Given the description of an element on the screen output the (x, y) to click on. 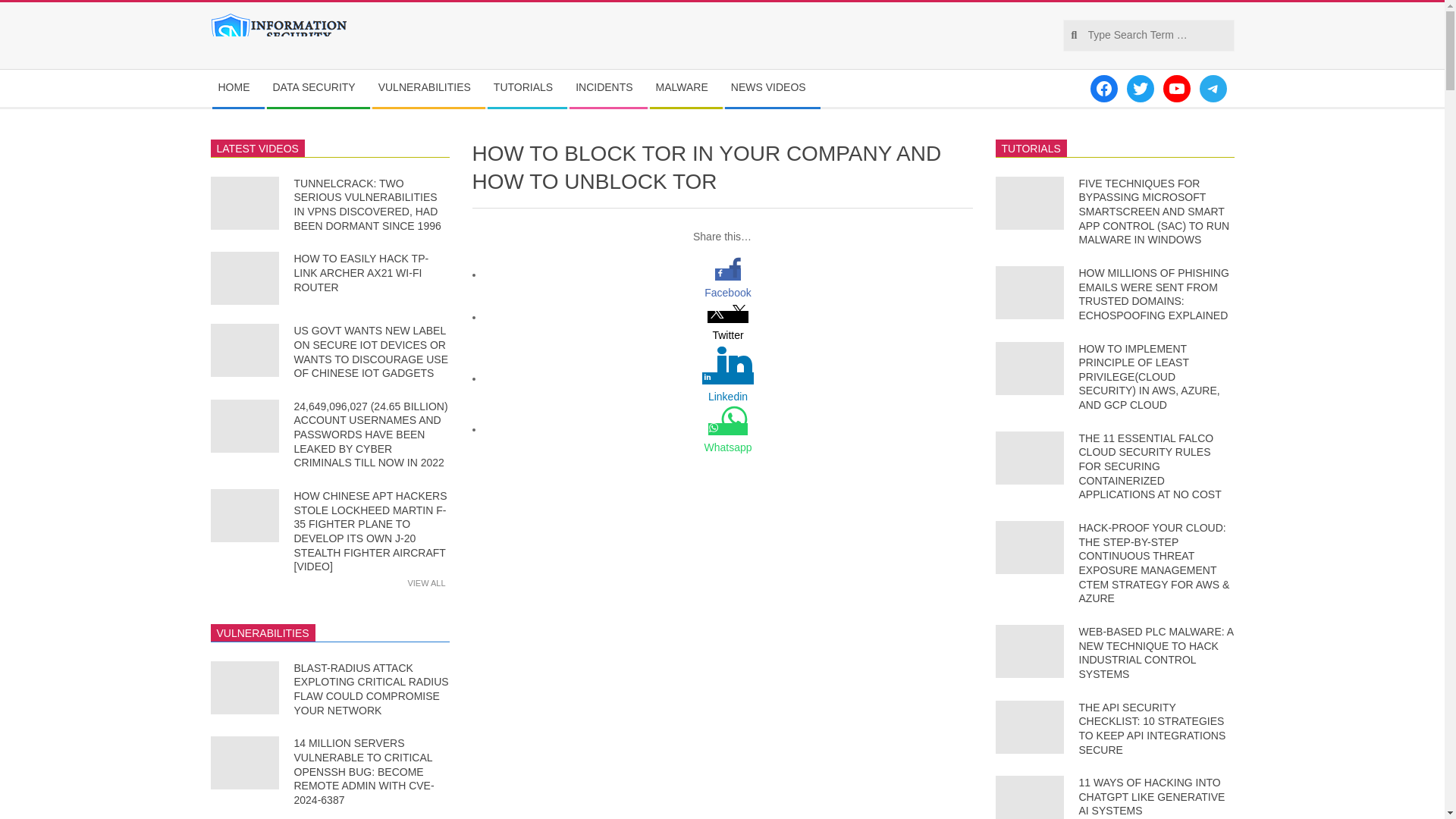
VULNERABILITIES (428, 88)
DATA SECURITY (317, 88)
TUTORIALS (526, 88)
HOME (237, 88)
Twitter (727, 334)
Facebook (727, 292)
Linkedin (727, 396)
Whatsapp (727, 447)
